Given the description of an element on the screen output the (x, y) to click on. 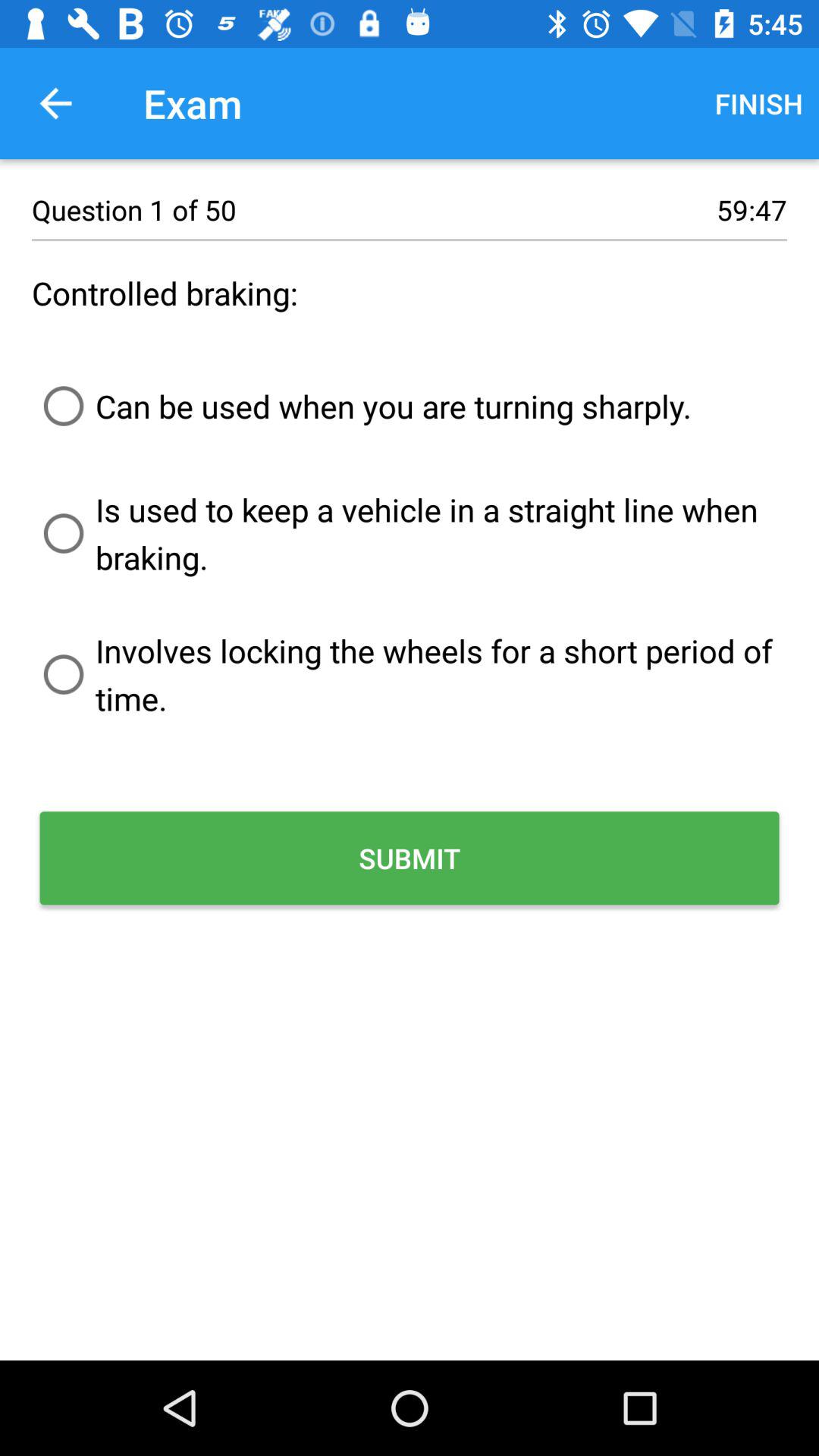
open the item above involves locking the icon (409, 532)
